Given the description of an element on the screen output the (x, y) to click on. 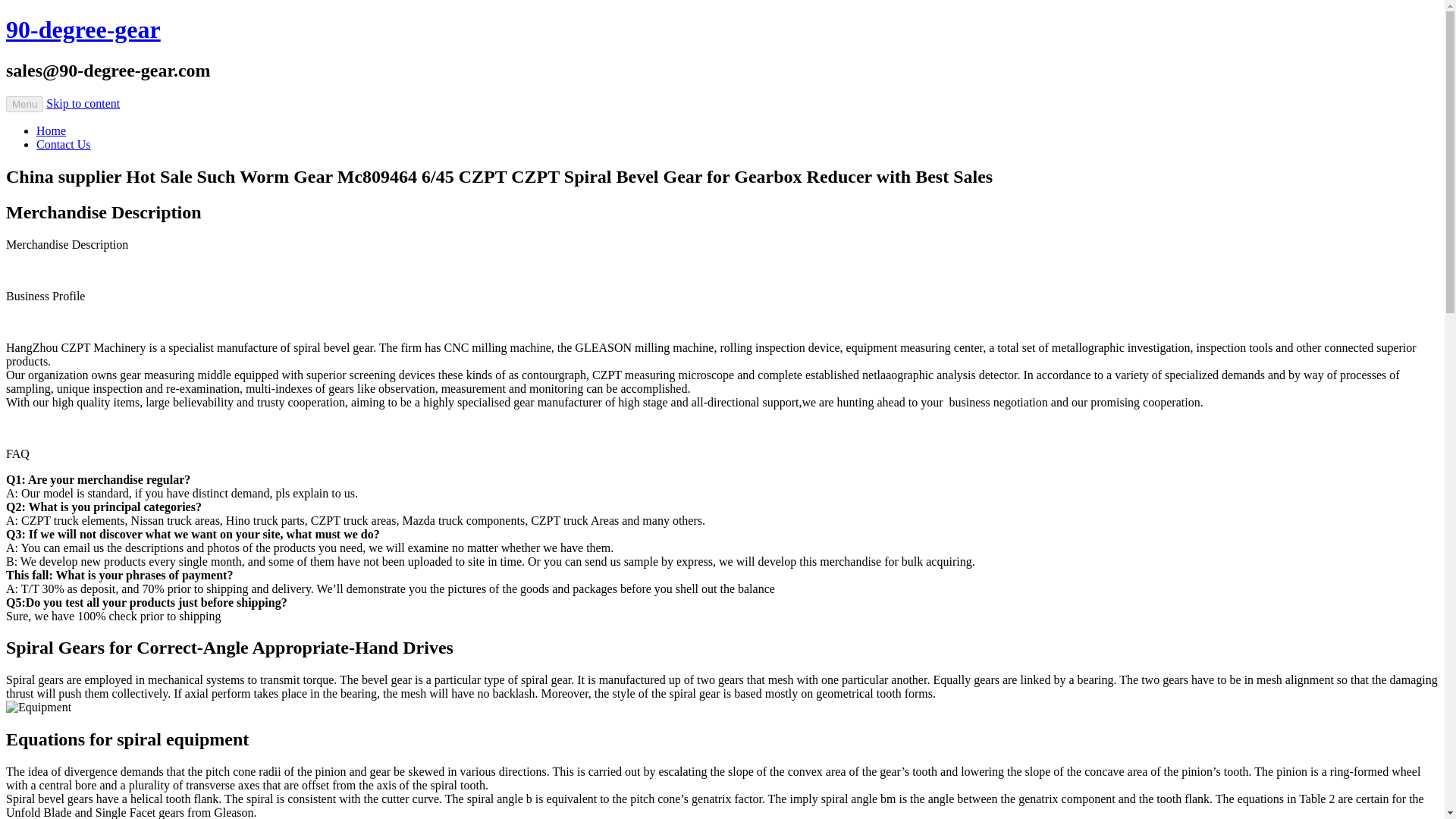
Skip to content (82, 103)
Home (50, 130)
Contact Us (63, 144)
90-degree-gear (82, 29)
Menu (24, 104)
